Given the description of an element on the screen output the (x, y) to click on. 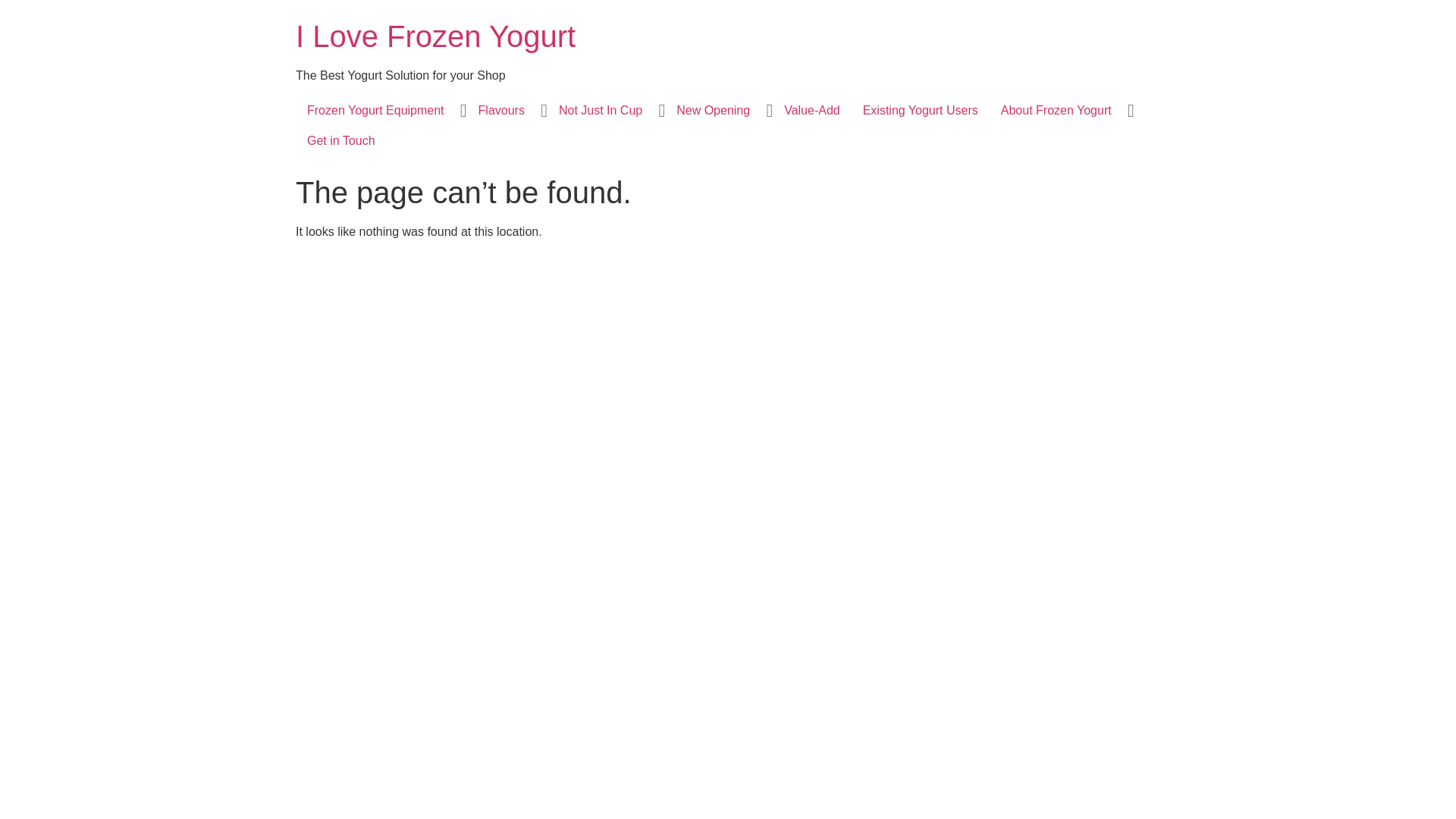
Value-Add Element type: text (811, 110)
Get in Touch Element type: text (340, 140)
About Frozen Yogurt Element type: text (1056, 110)
Flavours Element type: text (501, 110)
Not Just In Cup Element type: text (600, 110)
Frozen Yogurt Equipment Element type: text (375, 110)
New Opening Element type: text (713, 110)
I Love Frozen Yogurt Element type: text (435, 36)
Existing Yogurt Users Element type: text (920, 110)
